Given the description of an element on the screen output the (x, y) to click on. 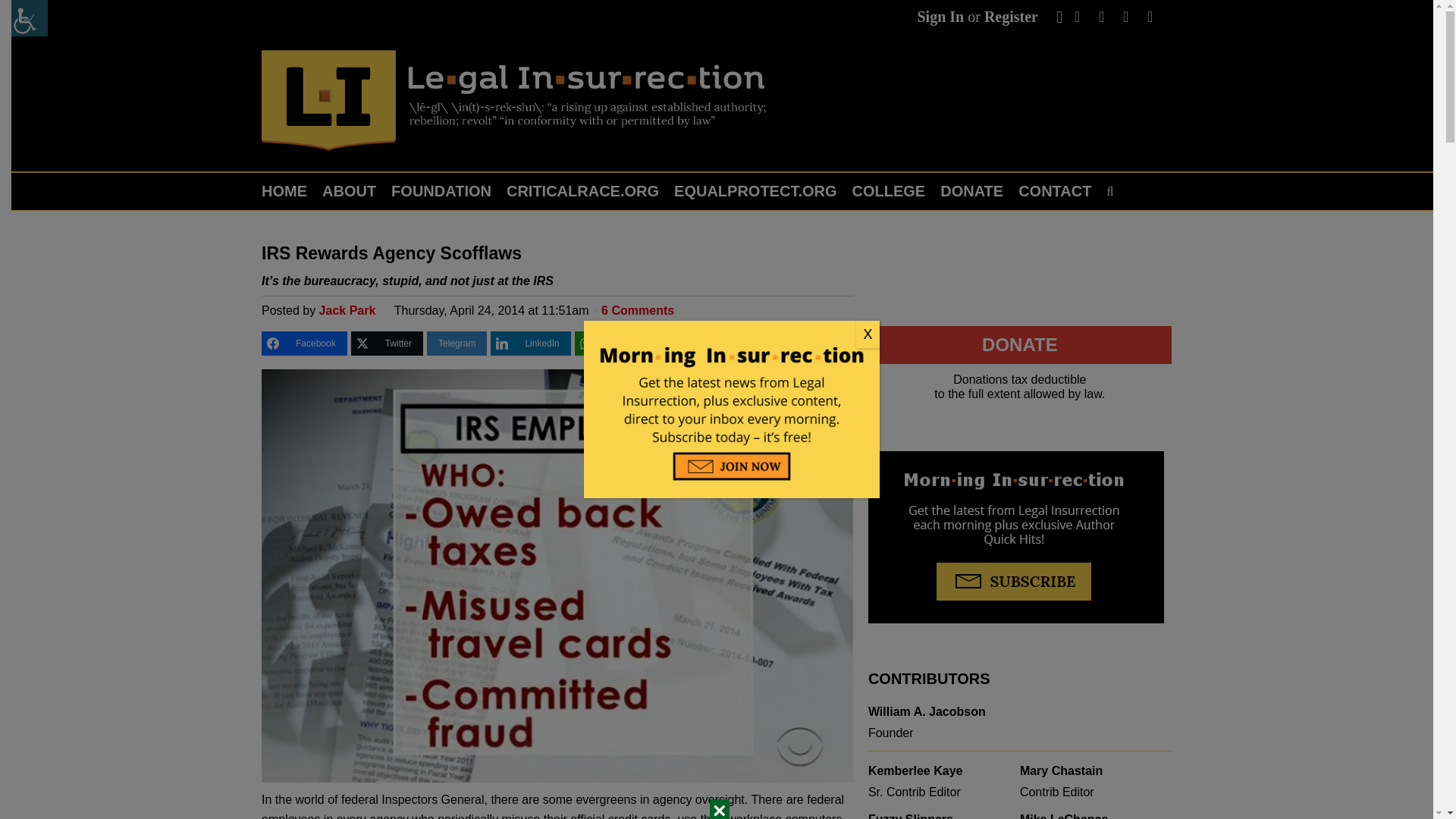
Sign In (940, 16)
Register (1011, 16)
Accessibility Helper sidebar (29, 18)
CRITICALRACE.ORG (582, 190)
ABOUT (349, 190)
HOME (288, 190)
FOUNDATION (441, 190)
EQUALPROTECT.ORG (755, 190)
